Given the description of an element on the screen output the (x, y) to click on. 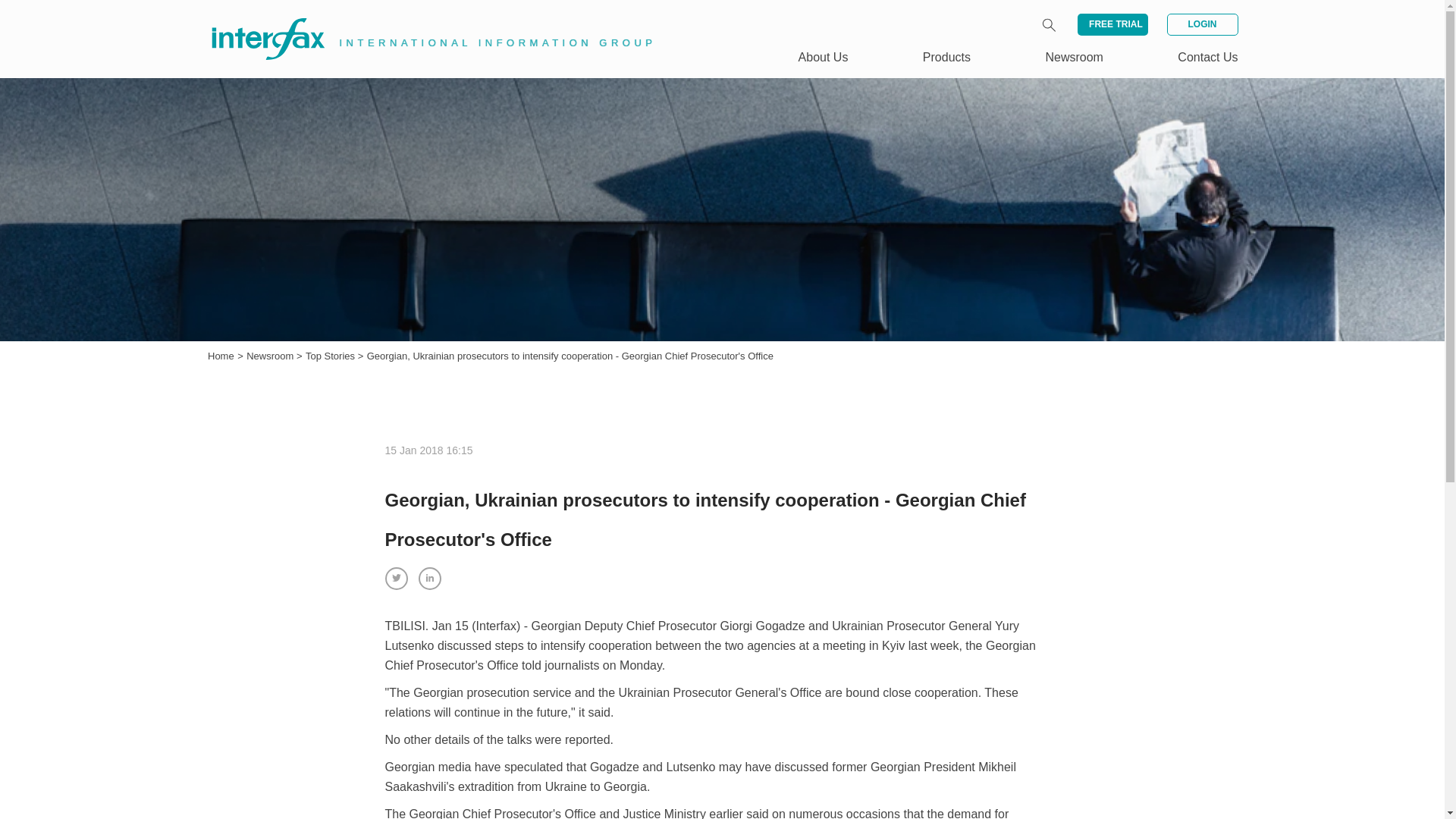
Contact Us (1207, 56)
Products (947, 56)
FREE TRIAL (1112, 24)
LOGIN (1201, 24)
Contact Us (1207, 56)
Newsroom (271, 355)
Top Stories (331, 355)
Newsroom (1073, 56)
INTERNATIONAL INFORMATION GROUP (421, 20)
Newsroom (271, 355)
